Given the description of an element on the screen output the (x, y) to click on. 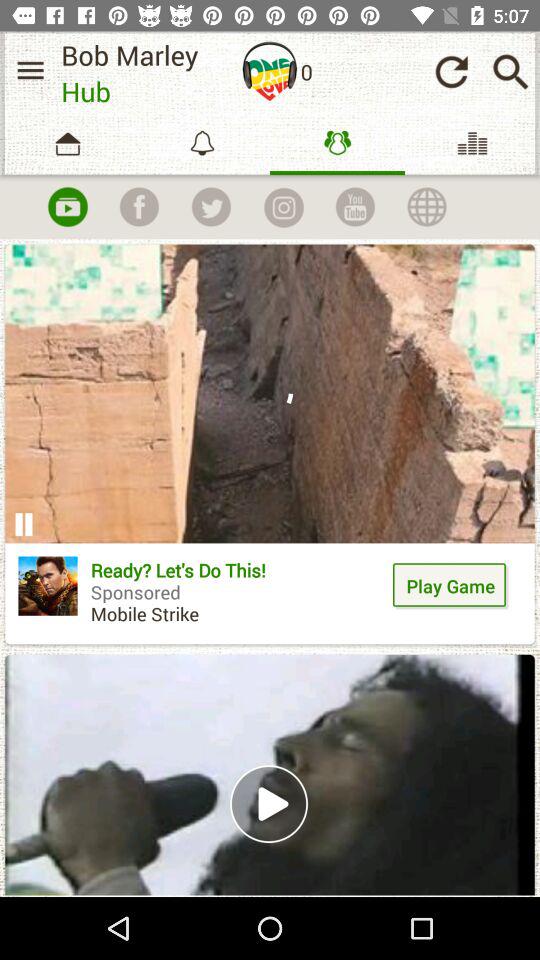
go to instagram (283, 207)
